Given the description of an element on the screen output the (x, y) to click on. 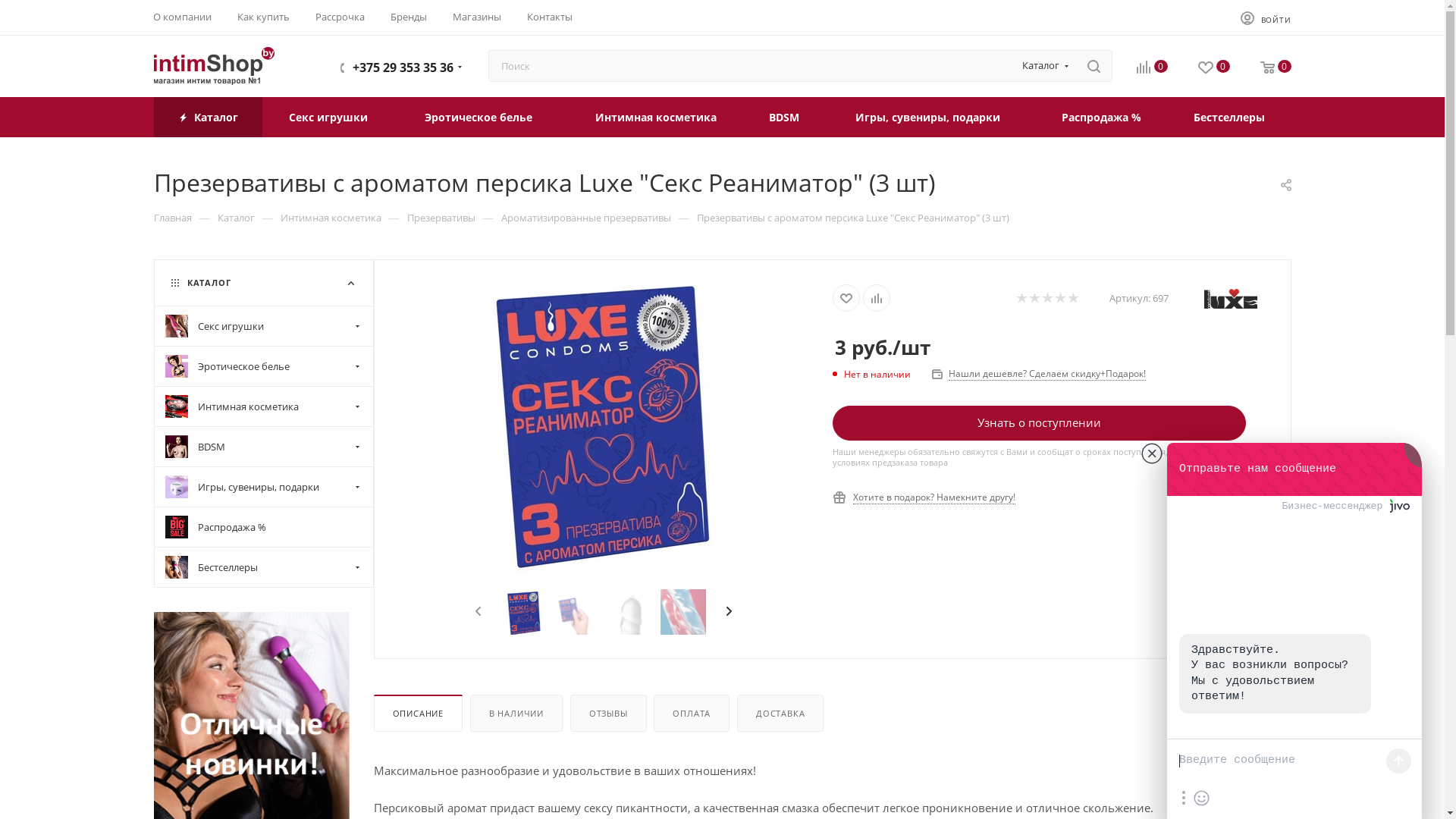
0 Element type: text (1214, 68)
BDSM Element type: text (263, 446)
BDSM Element type: text (784, 117)
intimshop.by Element type: hover (213, 65)
+375 29 353 35 36 Element type: text (401, 67)
Luxe Element type: hover (1230, 297)
0 Element type: text (1151, 68)
0 Element type: text (1275, 68)
